Given the description of an element on the screen output the (x, y) to click on. 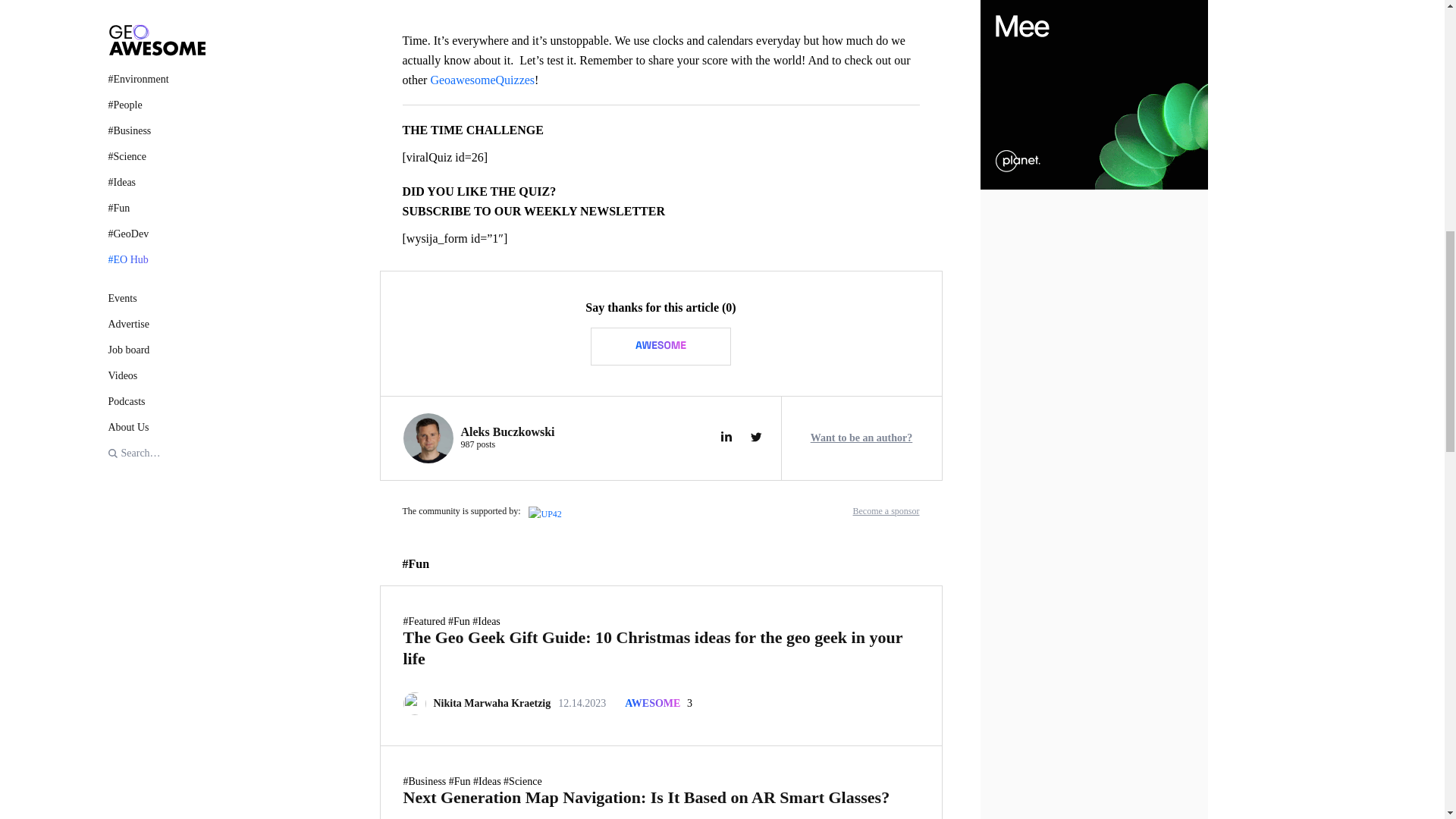
Become a sponsor (886, 511)
GeoawesomeQuizzes (481, 79)
Want to be an author? (861, 438)
